Given the description of an element on the screen output the (x, y) to click on. 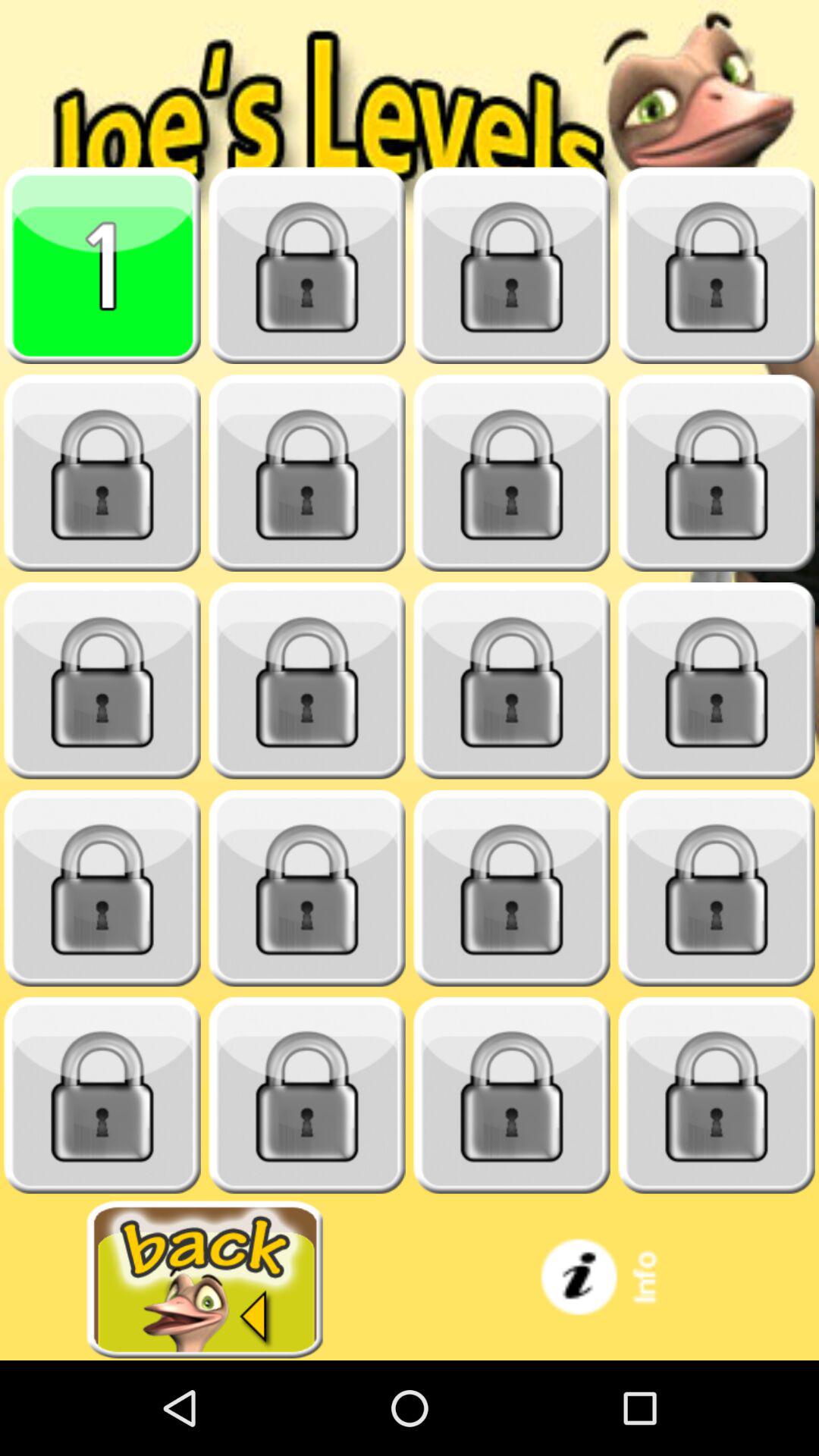
closed (102, 1094)
